Given the description of an element on the screen output the (x, y) to click on. 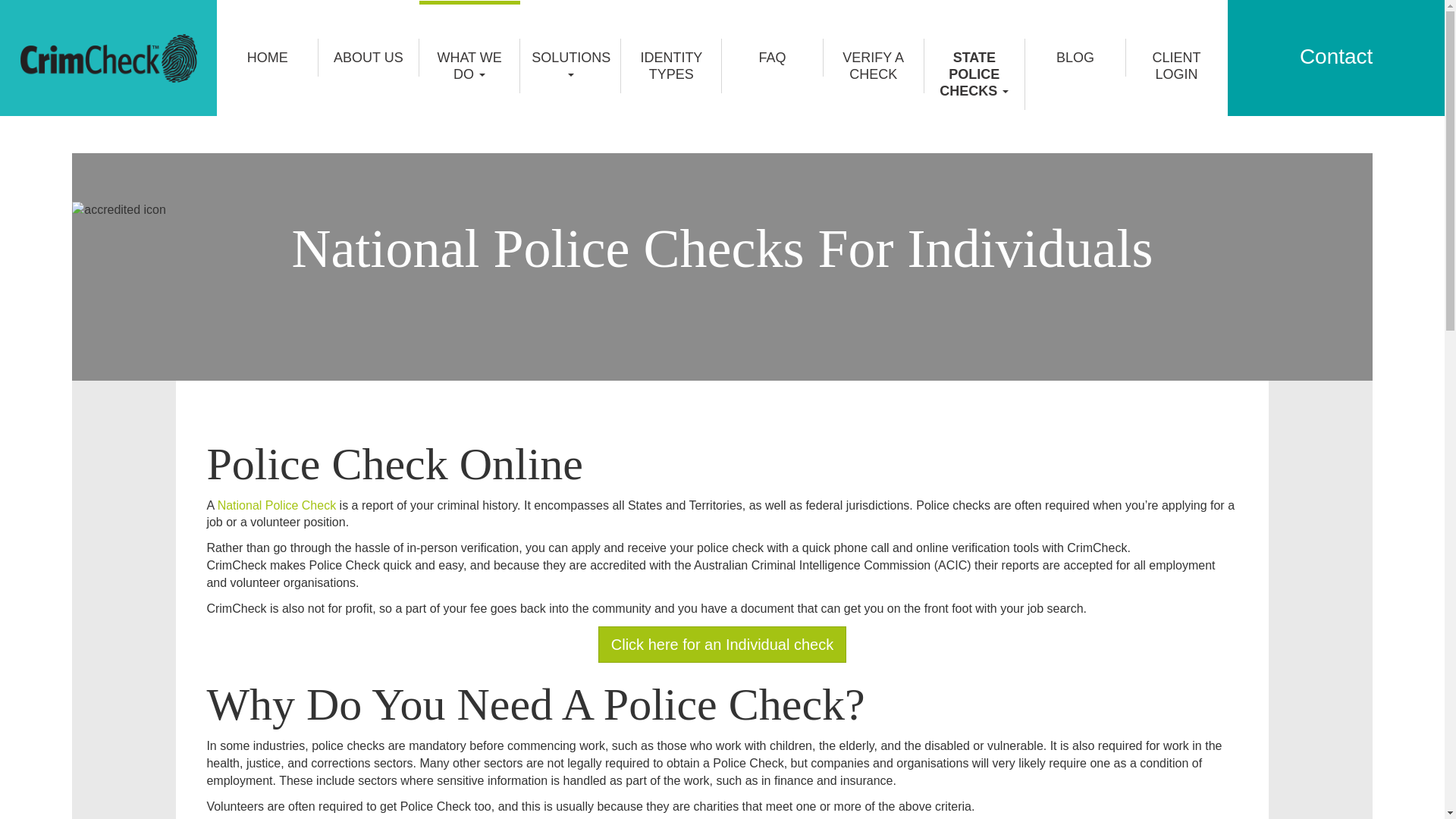
HOME Element type: text (267, 57)
National Police Check Element type: text (276, 504)
CLIENT LOGIN Element type: text (1176, 65)
SOLUTIONS  Element type: text (570, 65)
logo Element type: hover (108, 57)
IDENTITY TYPES Element type: text (671, 65)
WHAT WE DO  Element type: text (469, 65)
BLOG Element type: text (1075, 57)
FAQ Element type: text (771, 57)
VERIFY A CHECK Element type: text (873, 65)
Click here for an Individual check Element type: text (722, 644)
STATE POLICE CHECKS  Element type: text (974, 73)
accredited icon Element type: hover (722, 210)
ABOUT US Element type: text (368, 57)
Contact Element type: text (1336, 56)
